Given the description of an element on the screen output the (x, y) to click on. 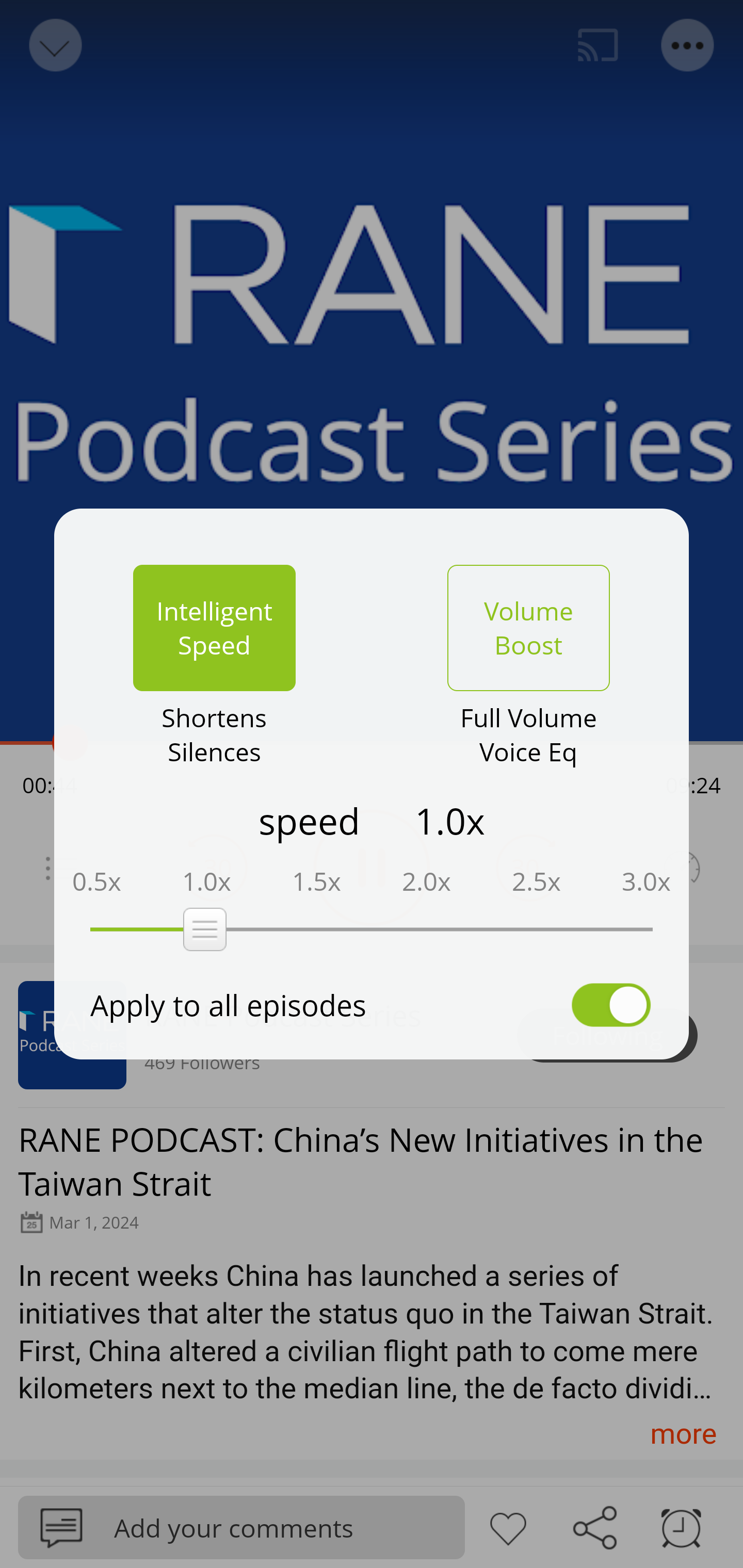
Intelligent
Speed (213, 627)
Volume
Boost (528, 627)
